Given the description of an element on the screen output the (x, y) to click on. 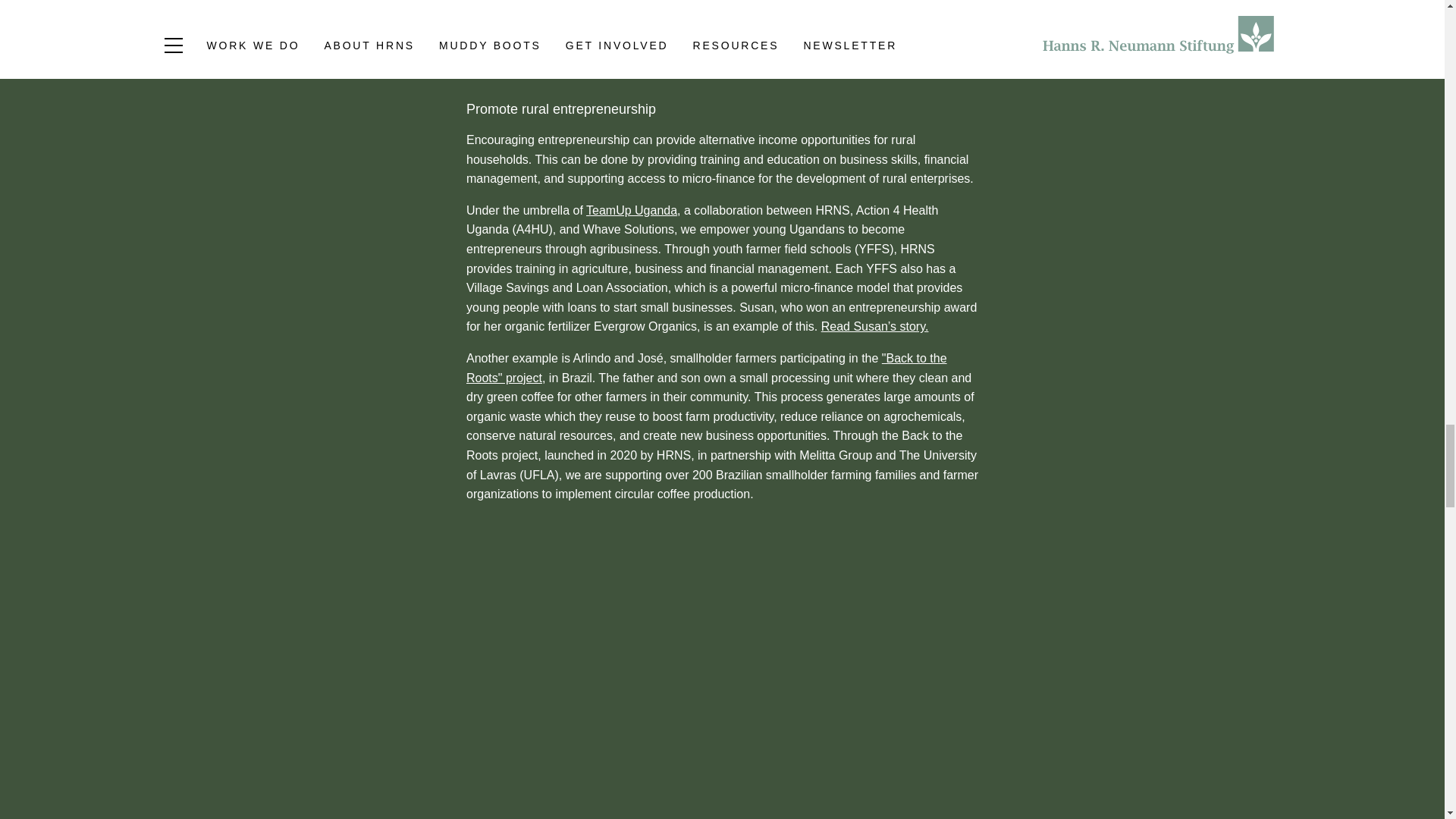
TeamUp Uganda (631, 210)
Read Susan's story (874, 326)
"Back to the Roots" project (706, 368)
TeamUp Uganda (631, 210)
Back to the Roots  (706, 368)
